Given the description of an element on the screen output the (x, y) to click on. 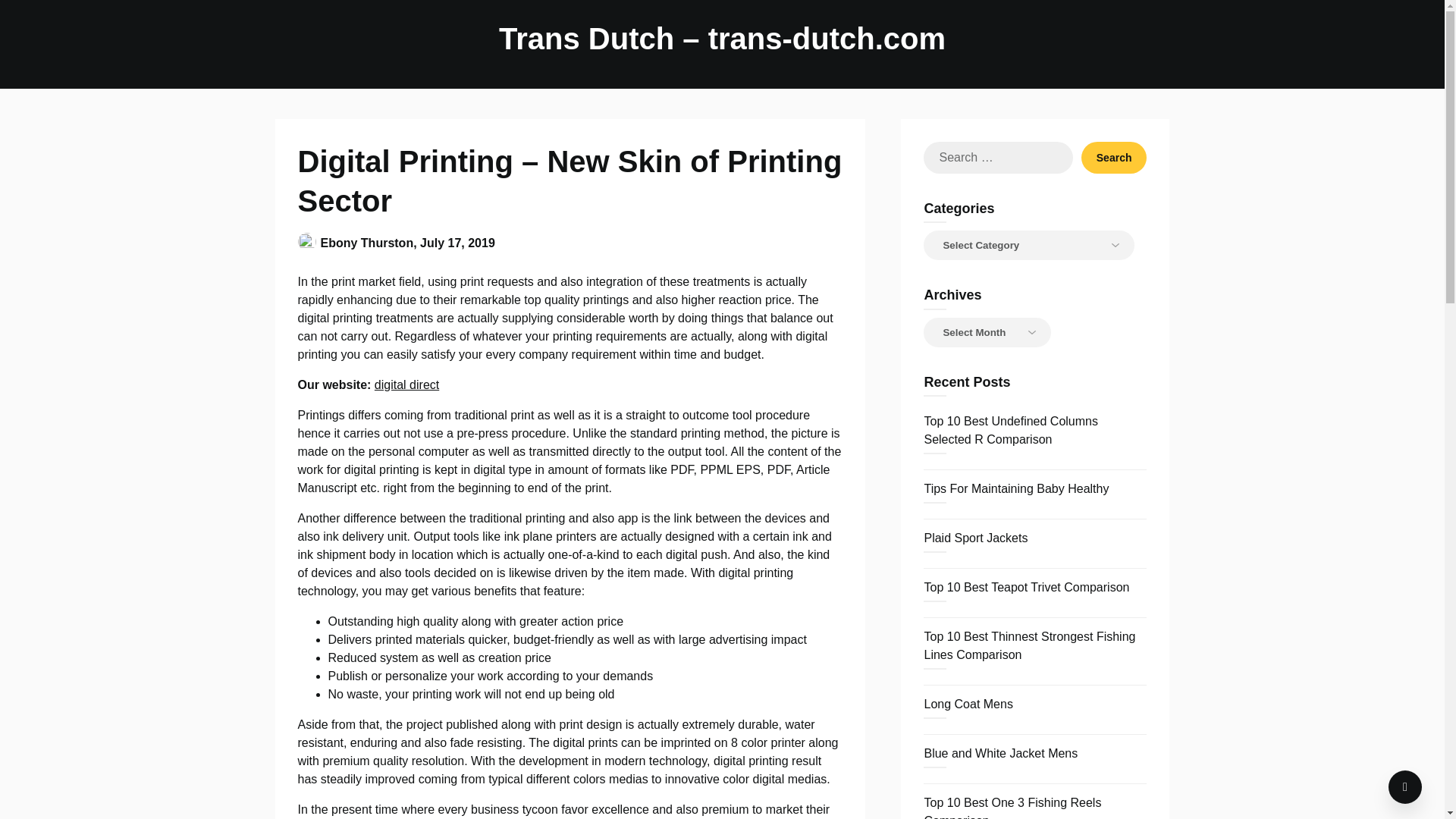
Top 10 Best Thinnest Strongest Fishing Lines Comparison (1029, 644)
Top 10 Best Undefined Columns Selected R Comparison (1010, 429)
To Top (1405, 786)
Top 10 Best One 3 Fishing Reels Comparison (1011, 807)
Search (1114, 157)
digital direct (406, 384)
Search (1114, 157)
Tips For Maintaining Baby Healthy (1015, 488)
Search (1114, 157)
Blue and White Jacket Mens (1000, 753)
